Given the description of an element on the screen output the (x, y) to click on. 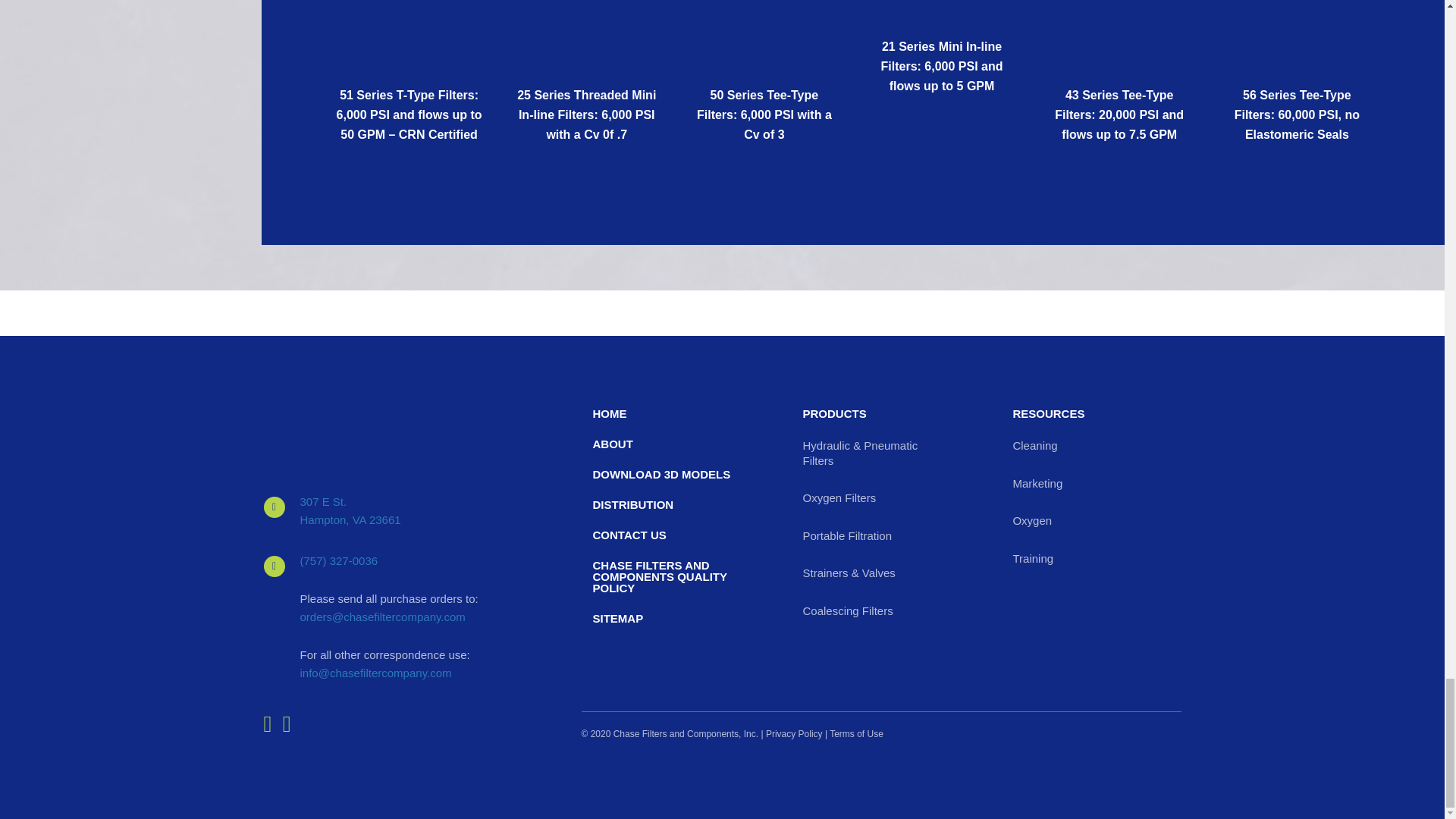
50 Series Tee-Type Filters: 6,000 PSI with a Cv of 3 (763, 1)
50 Series Tee-Type Filters: 6,000 PSI with a Cv of 3 (764, 114)
